Given the description of an element on the screen output the (x, y) to click on. 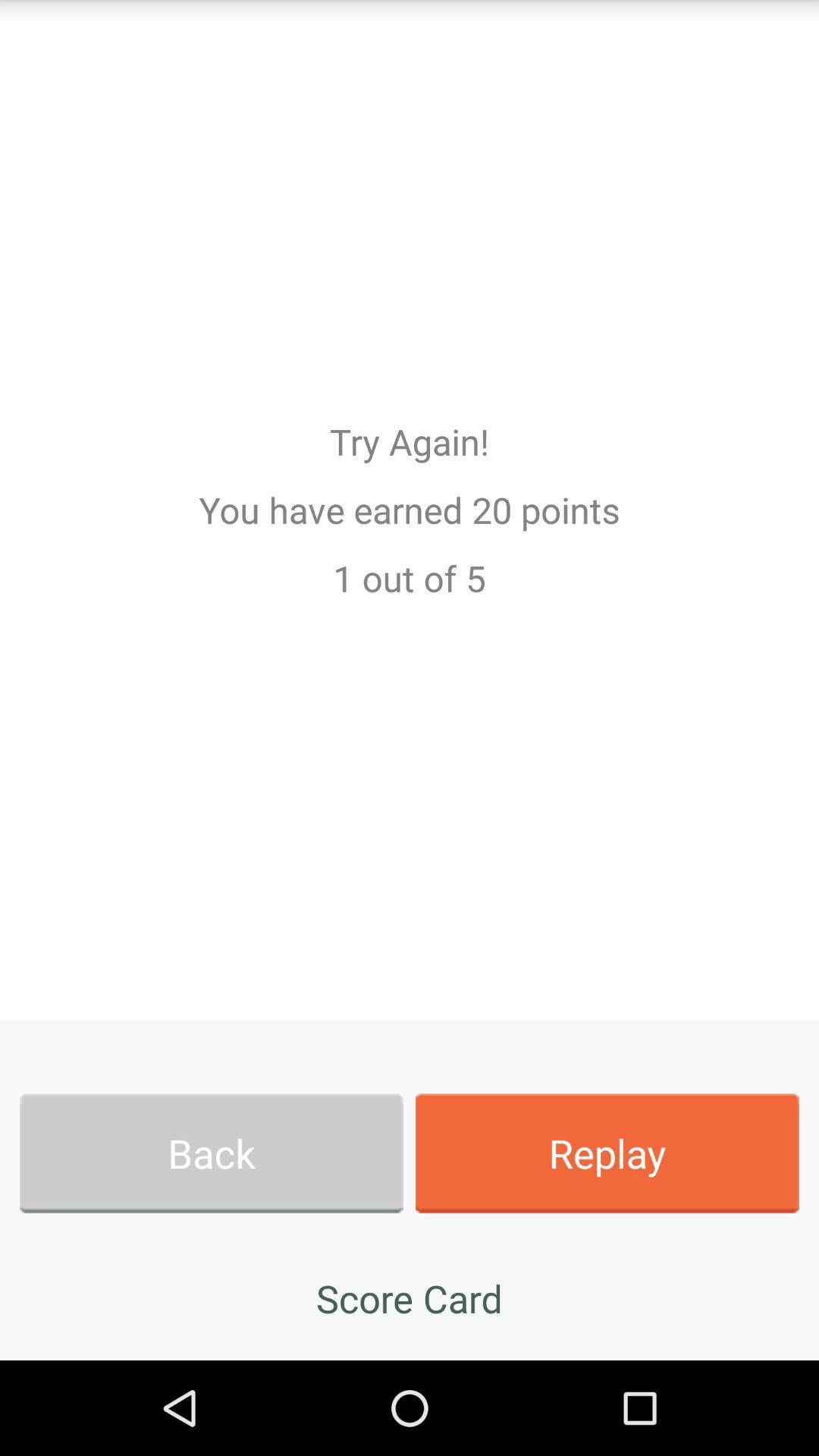
scroll until replay item (607, 1153)
